Given the description of an element on the screen output the (x, y) to click on. 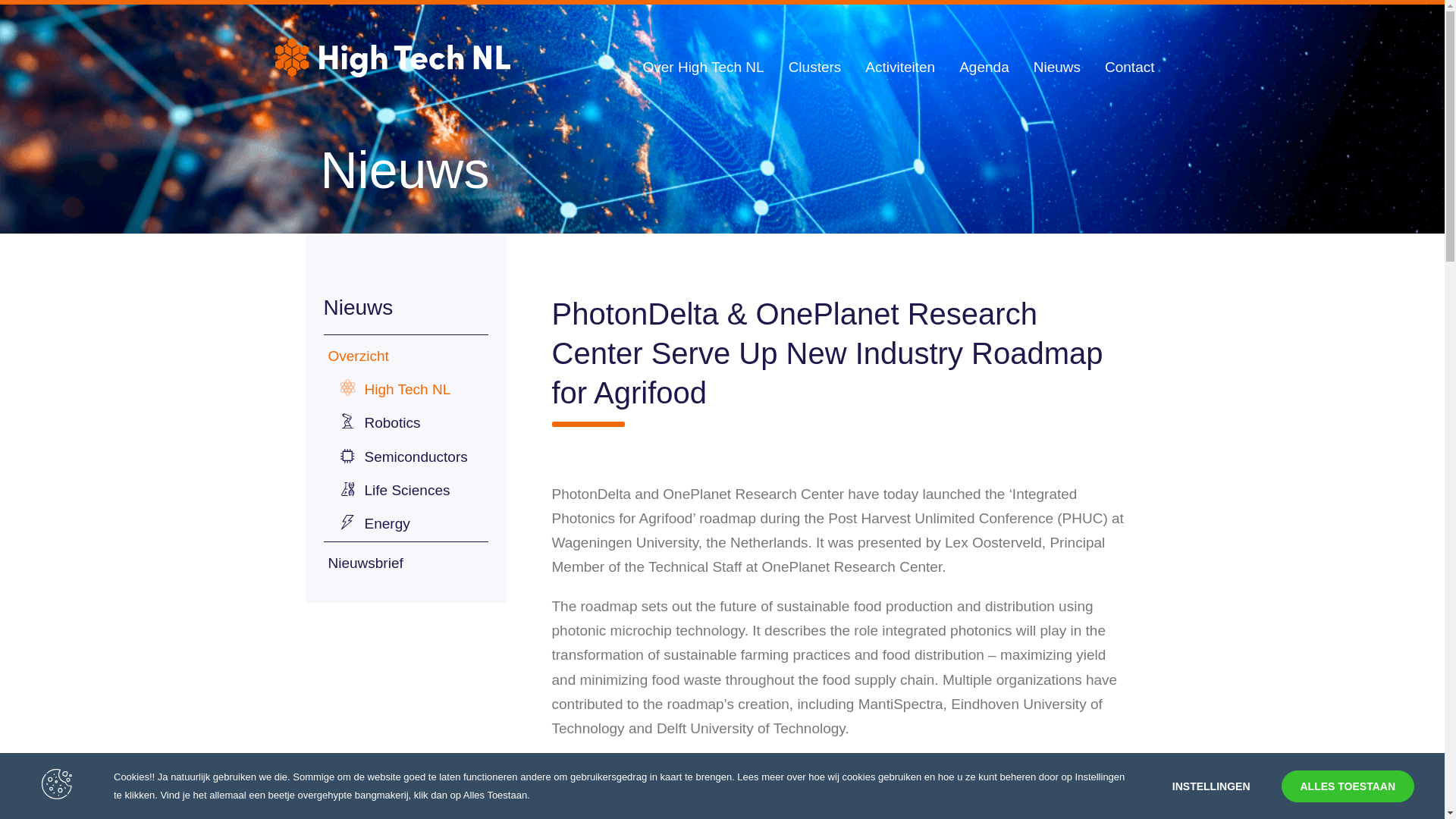
Contact (1129, 66)
Nieuws (1056, 66)
Clusters (815, 66)
Over High Tech NL (702, 66)
Agenda (984, 66)
Activiteiten (899, 66)
